Given the description of an element on the screen output the (x, y) to click on. 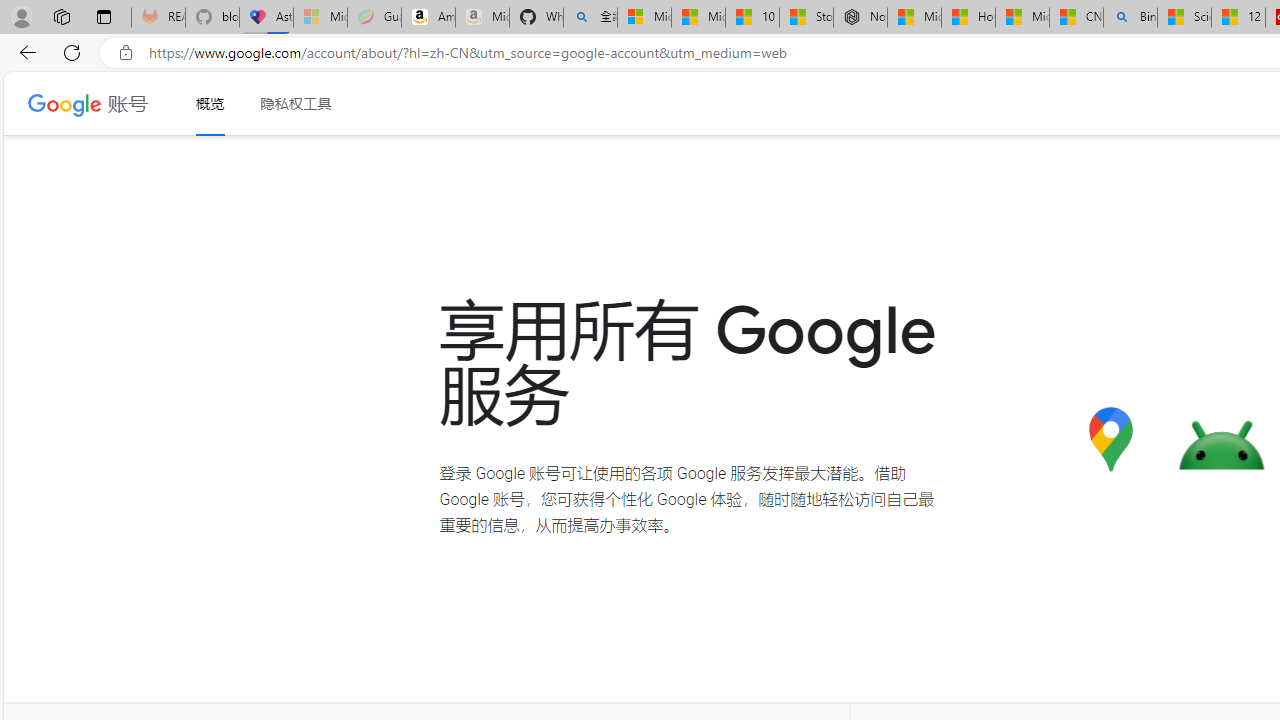
CNN - MSN (1076, 17)
Science - MSN (1184, 17)
Stocks - MSN (806, 17)
How I Got Rid of Microsoft Edge's Unnecessary Features (968, 17)
Microsoft-Report a Concern to Bing - Sleeping (320, 17)
Bing (1130, 17)
